Given the description of an element on the screen output the (x, y) to click on. 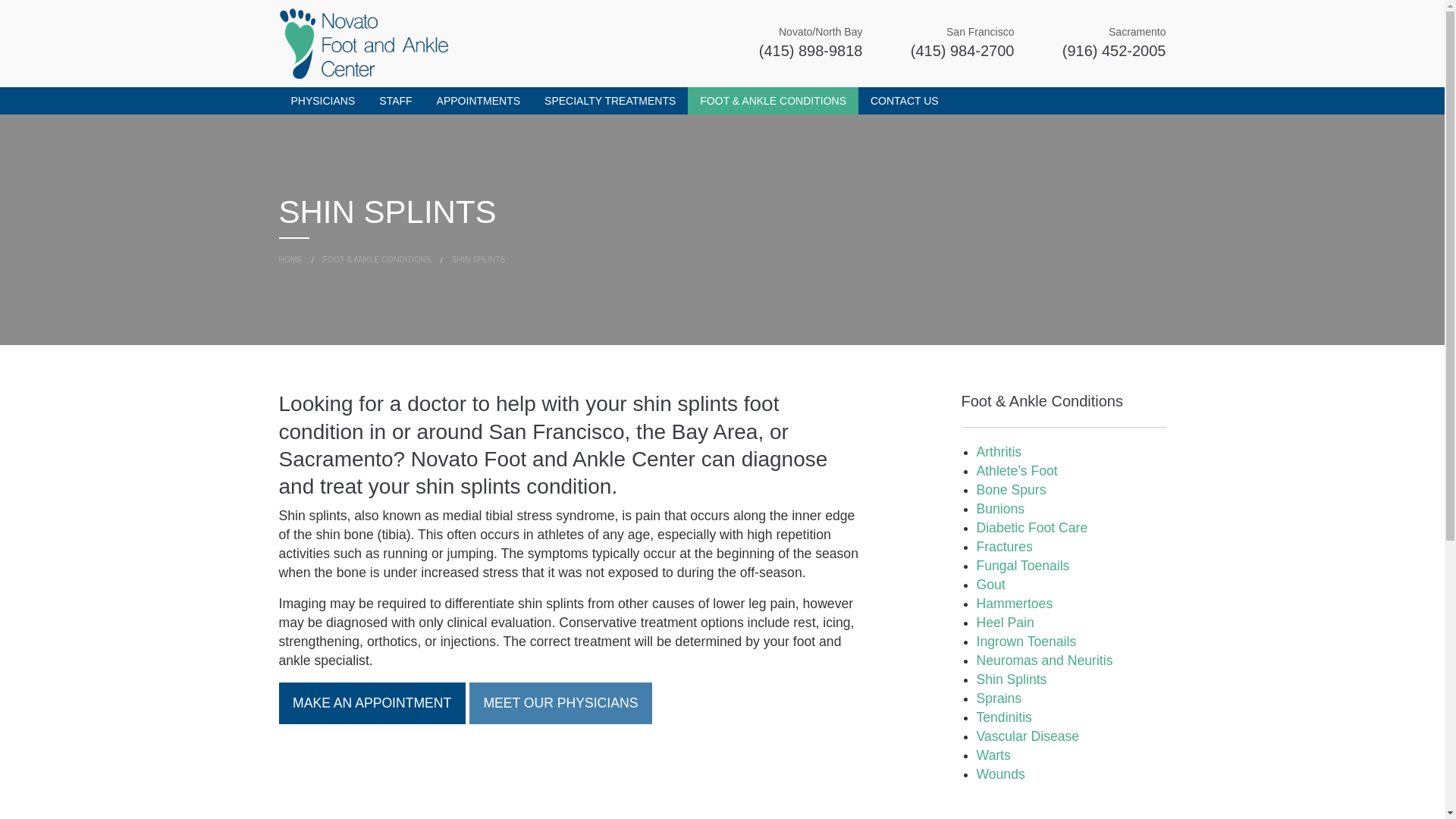
Arthritis (999, 451)
APPOINTMENTS (478, 100)
STAFF (394, 100)
Bone Spurs (1011, 489)
MEET OUR PHYSICIANS (560, 702)
PHYSICIANS (323, 100)
MAKE AN APPOINTMENT (372, 702)
CONTACT US (904, 100)
SPECIALTY TREATMENTS (609, 100)
HOME (290, 259)
